Given the description of an element on the screen output the (x, y) to click on. 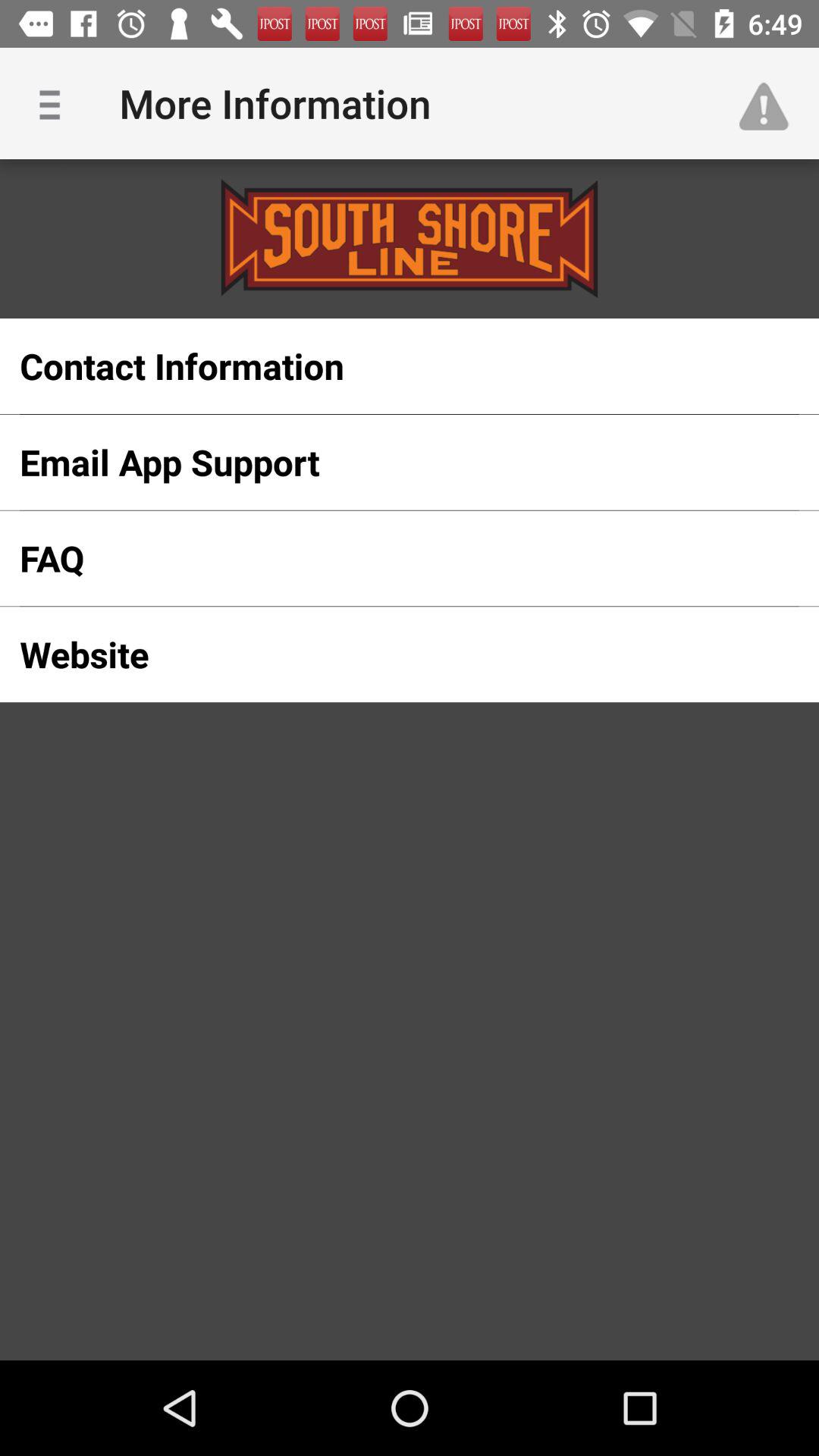
open the item to the left of the more information item (55, 103)
